Given the description of an element on the screen output the (x, y) to click on. 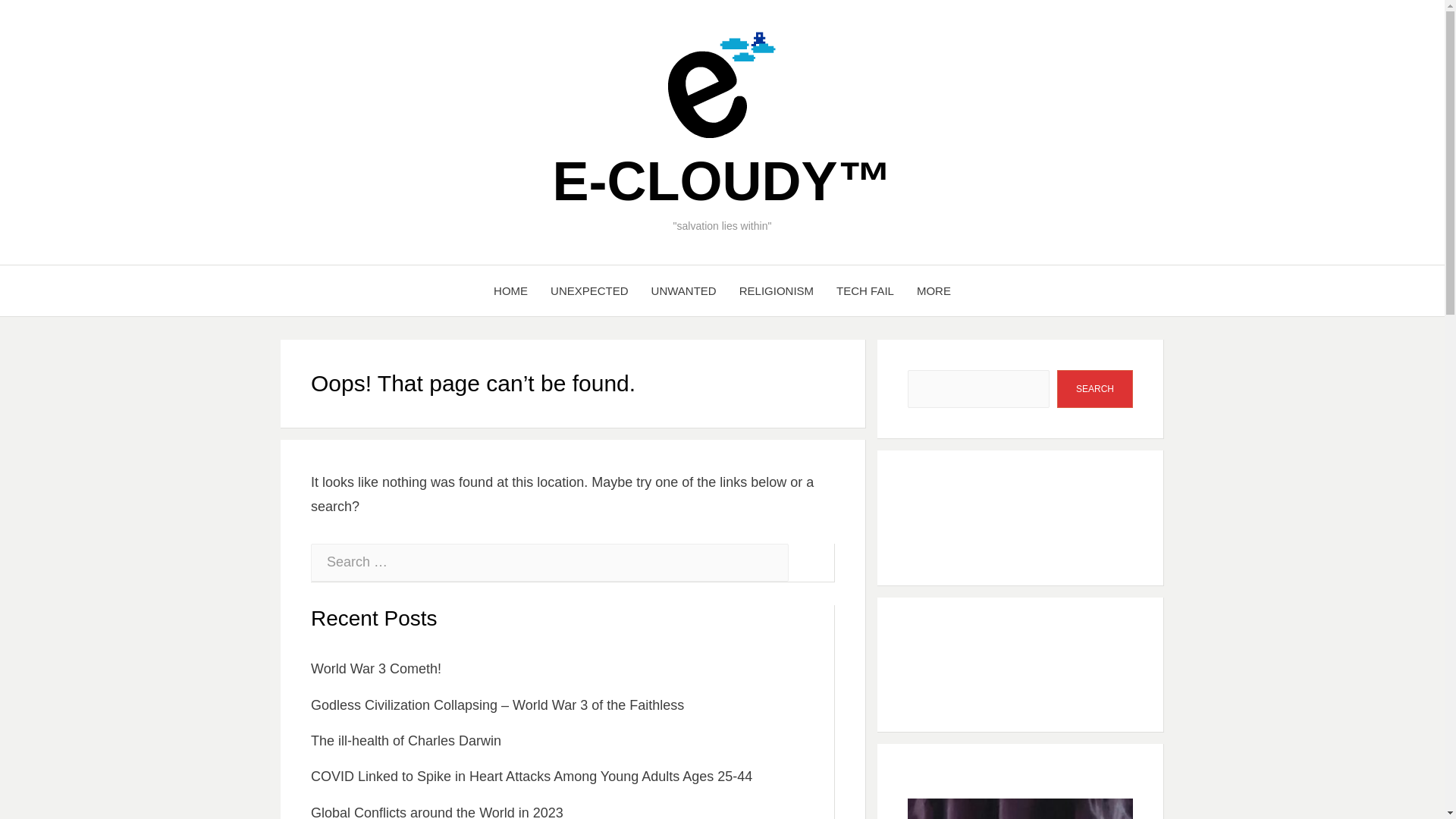
The ill-health of Charles Darwin (405, 740)
World War 3 Cometh! (376, 668)
RELIGIONISM (776, 290)
Global Conflicts around the World in 2023 (437, 812)
MORE (933, 290)
UNEXPECTED (589, 290)
TECH FAIL (865, 290)
UNWANTED (684, 290)
Search for: (550, 562)
